Given the description of an element on the screen output the (x, y) to click on. 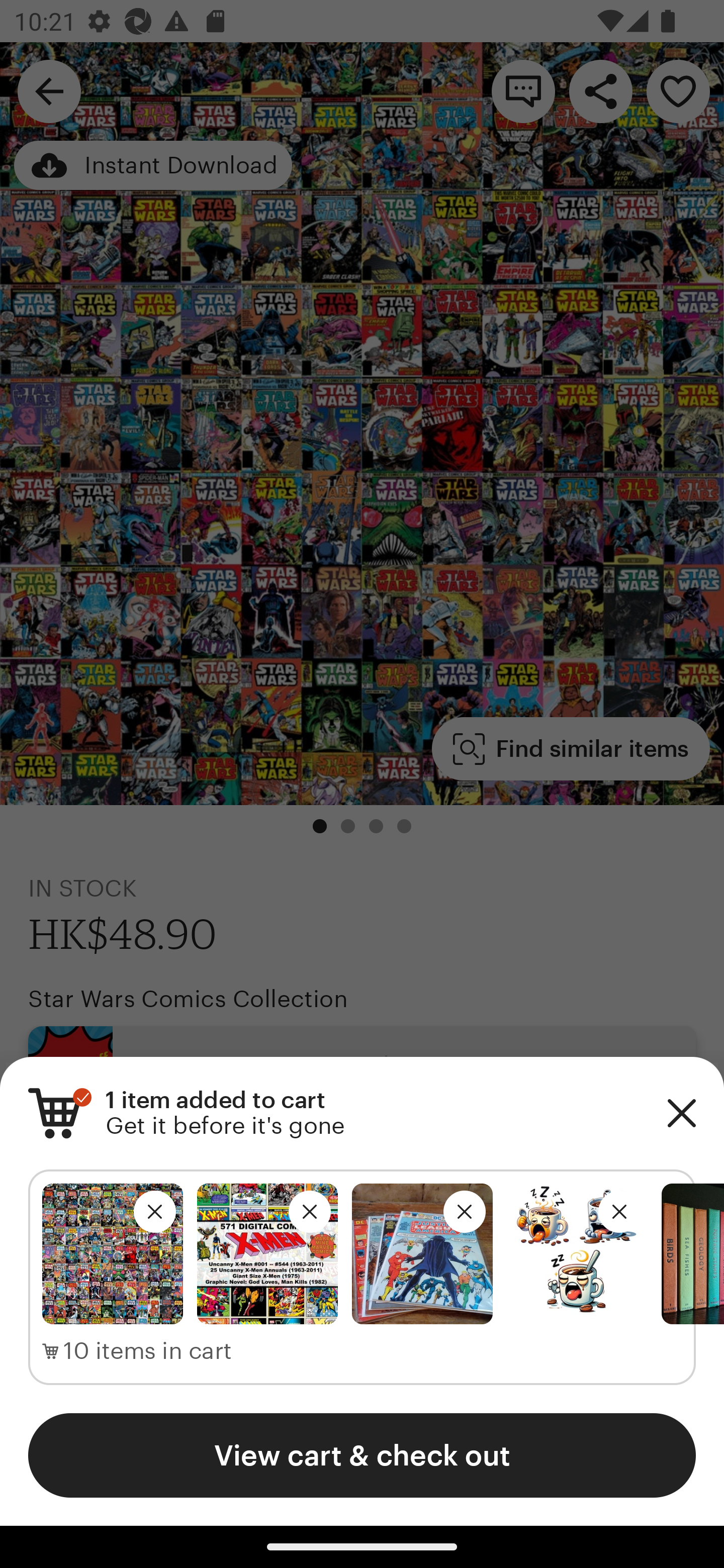
10 items in cart (137, 1351)
View cart & check out (361, 1454)
